Given the description of an element on the screen output the (x, y) to click on. 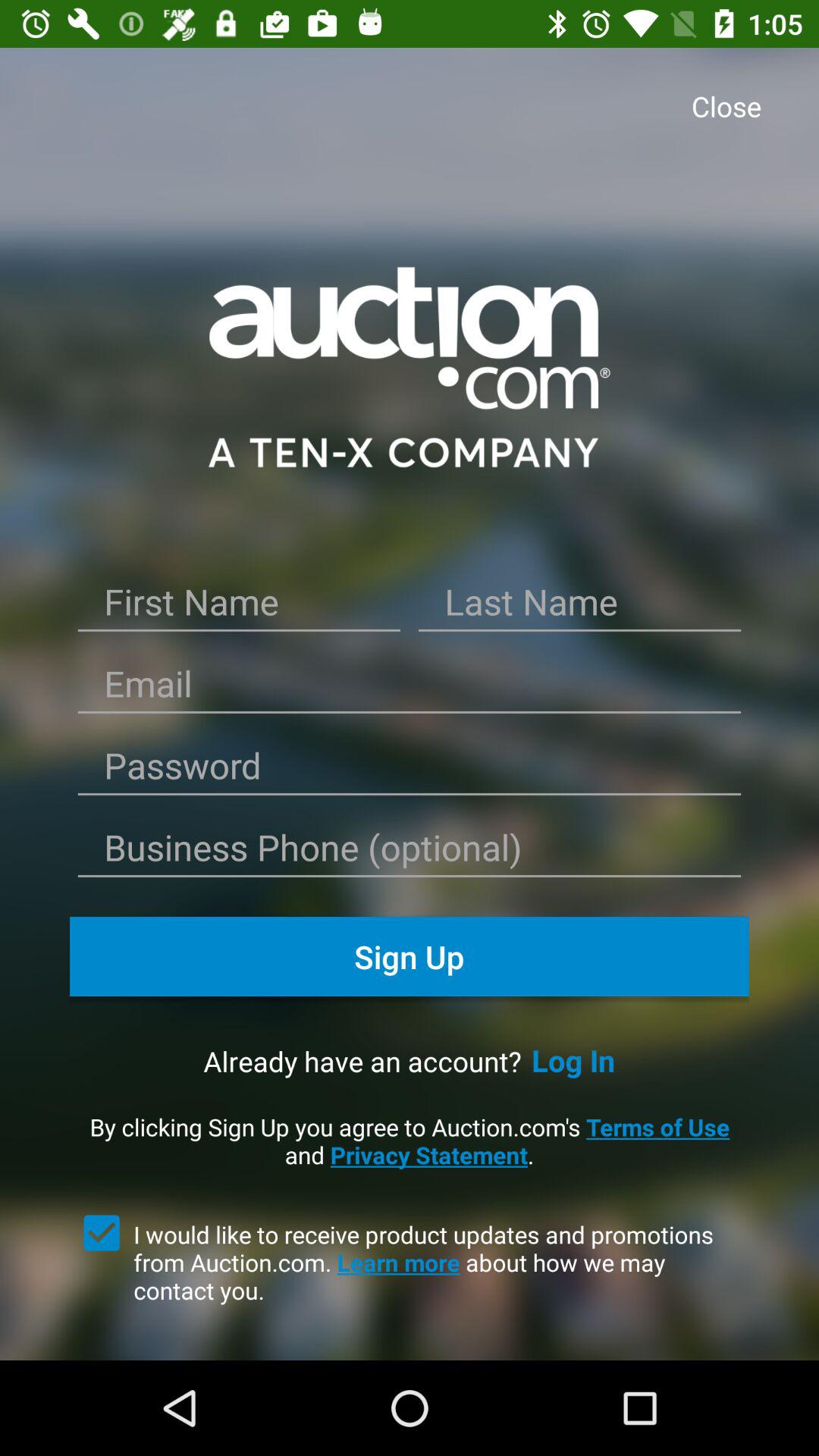
enter business phone optional here (409, 852)
